Given the description of an element on the screen output the (x, y) to click on. 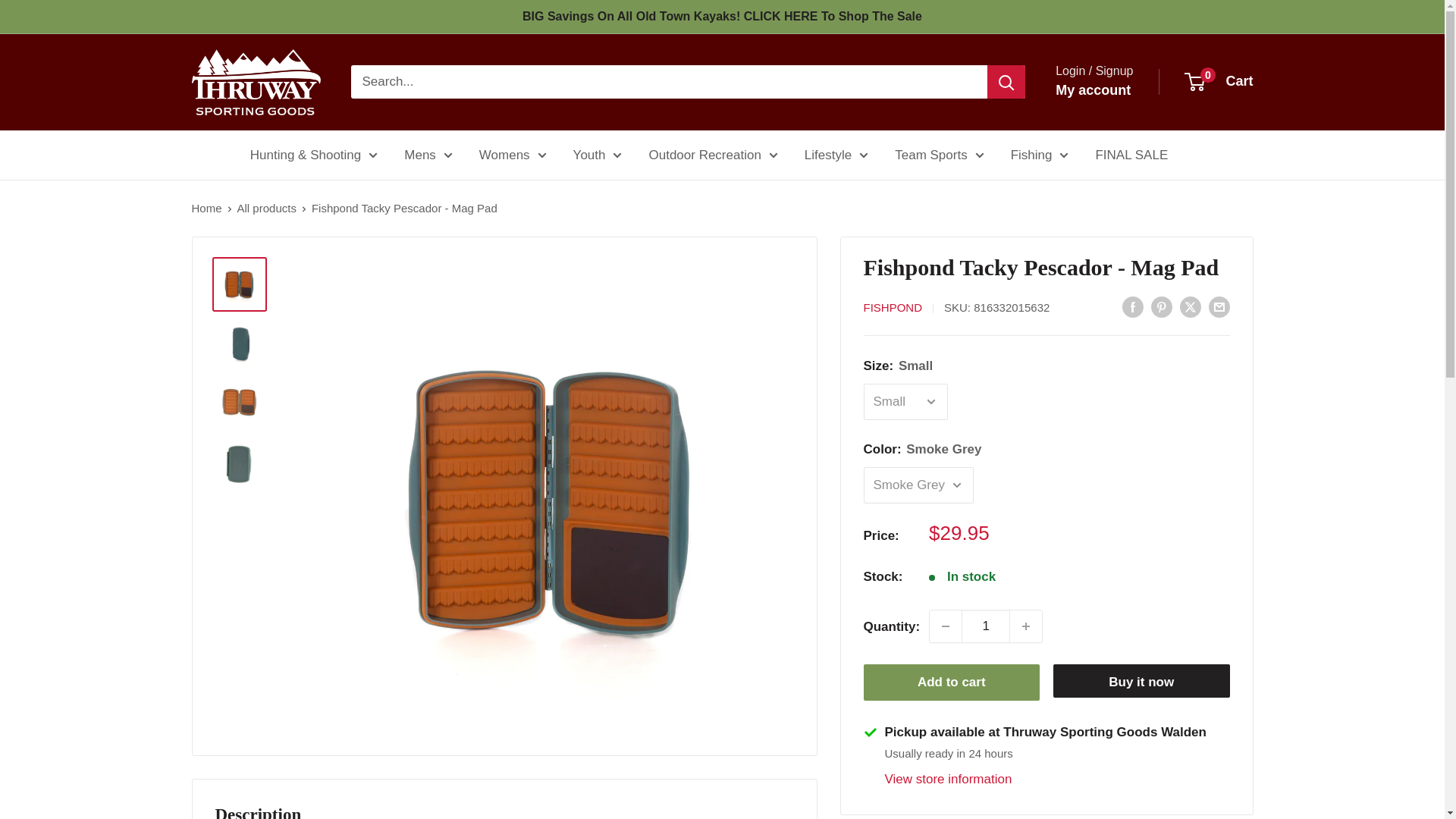
1 (985, 626)
Decrease quantity by 1 (945, 626)
Increase quantity by 1 (1026, 626)
